Given the description of an element on the screen output the (x, y) to click on. 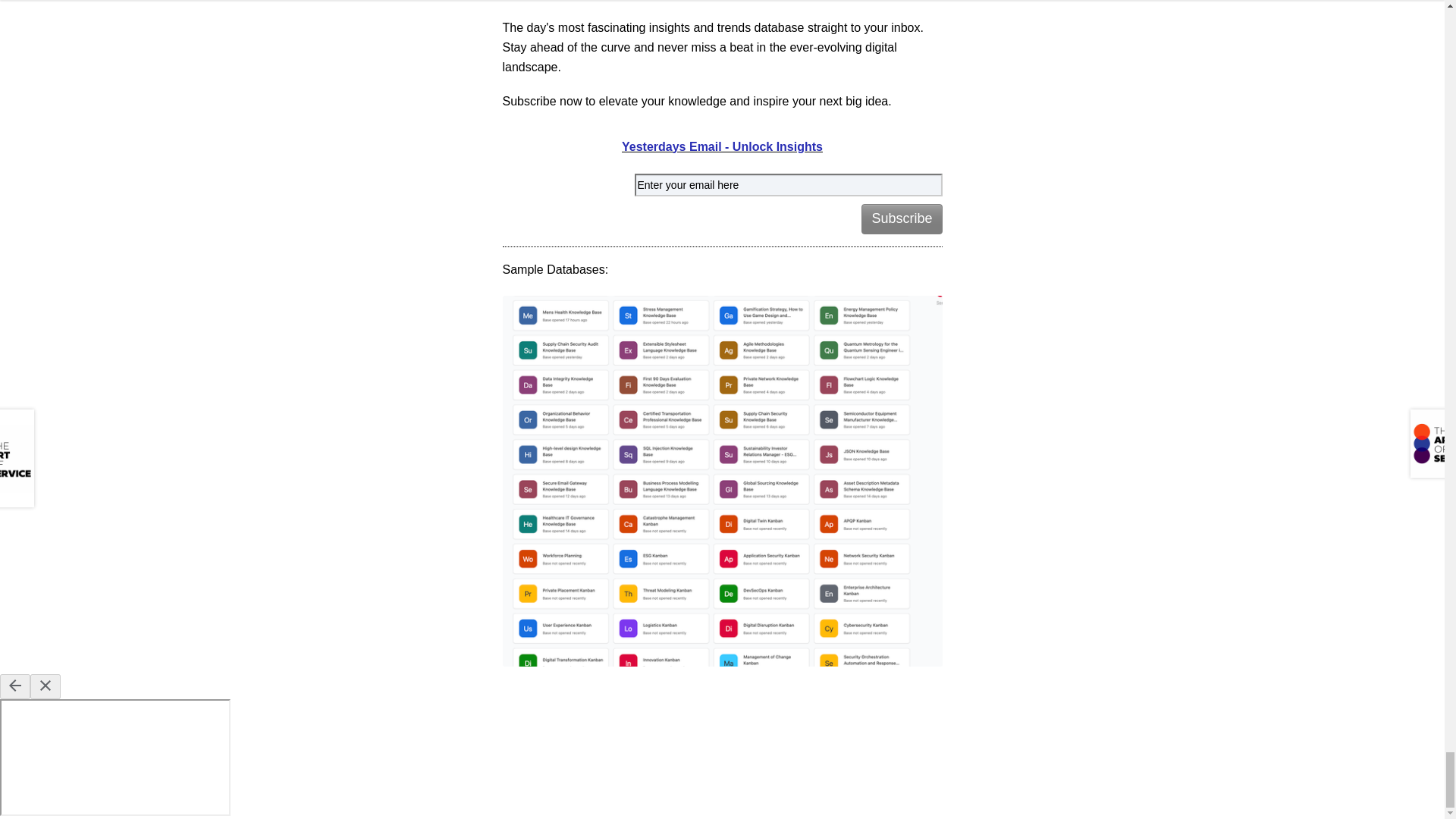
Subscribe (901, 218)
Enter your email here (787, 185)
